Given the description of an element on the screen output the (x, y) to click on. 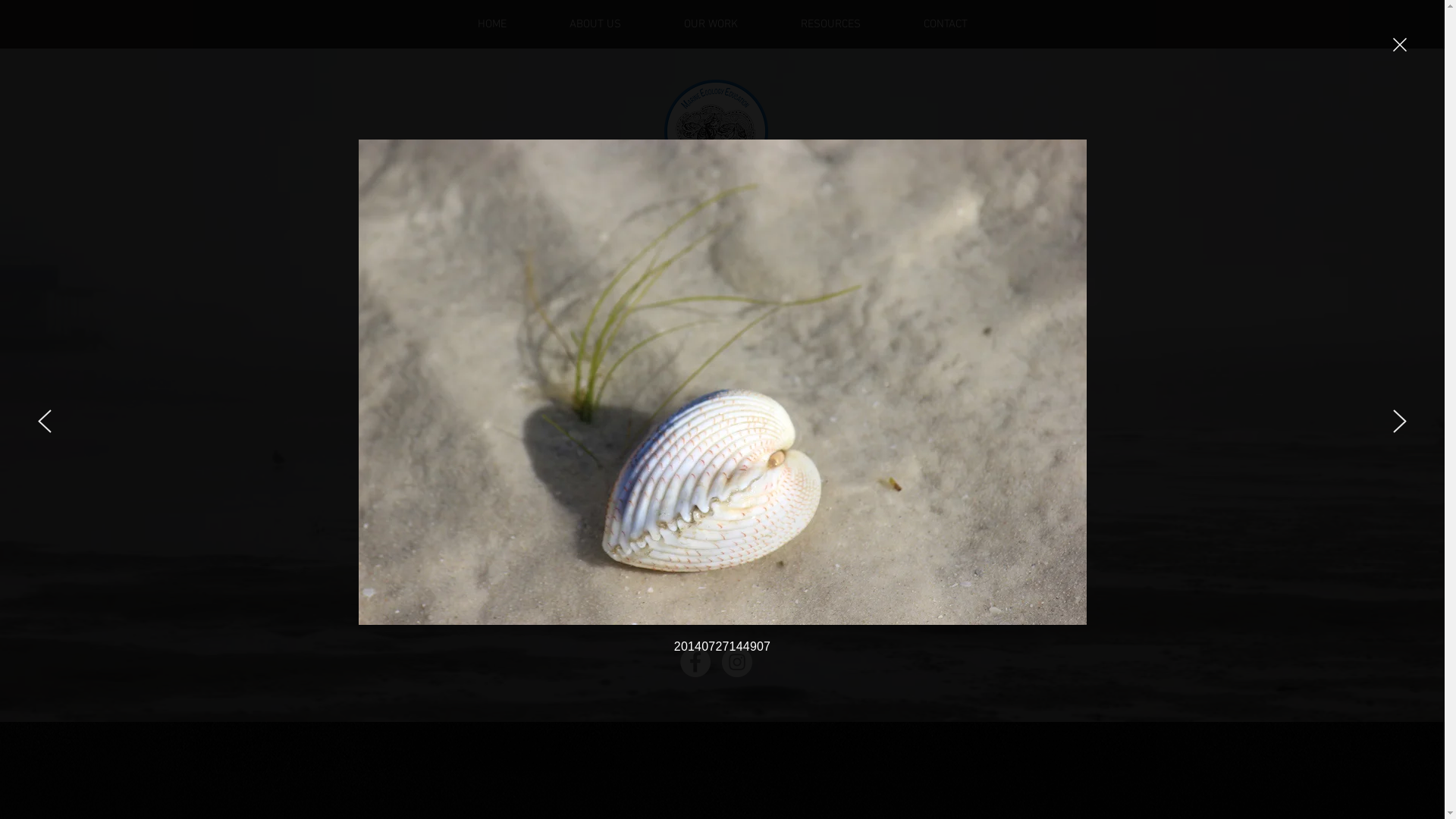
RESOURCES Element type: text (829, 24)
OUR WORK Element type: text (710, 24)
ABOUT US Element type: text (595, 24)
Marine Ecology Education Indigenous Corporation Element type: text (716, 287)
HOME Element type: text (491, 24)
CONTACT Element type: text (944, 24)
